Given the description of an element on the screen output the (x, y) to click on. 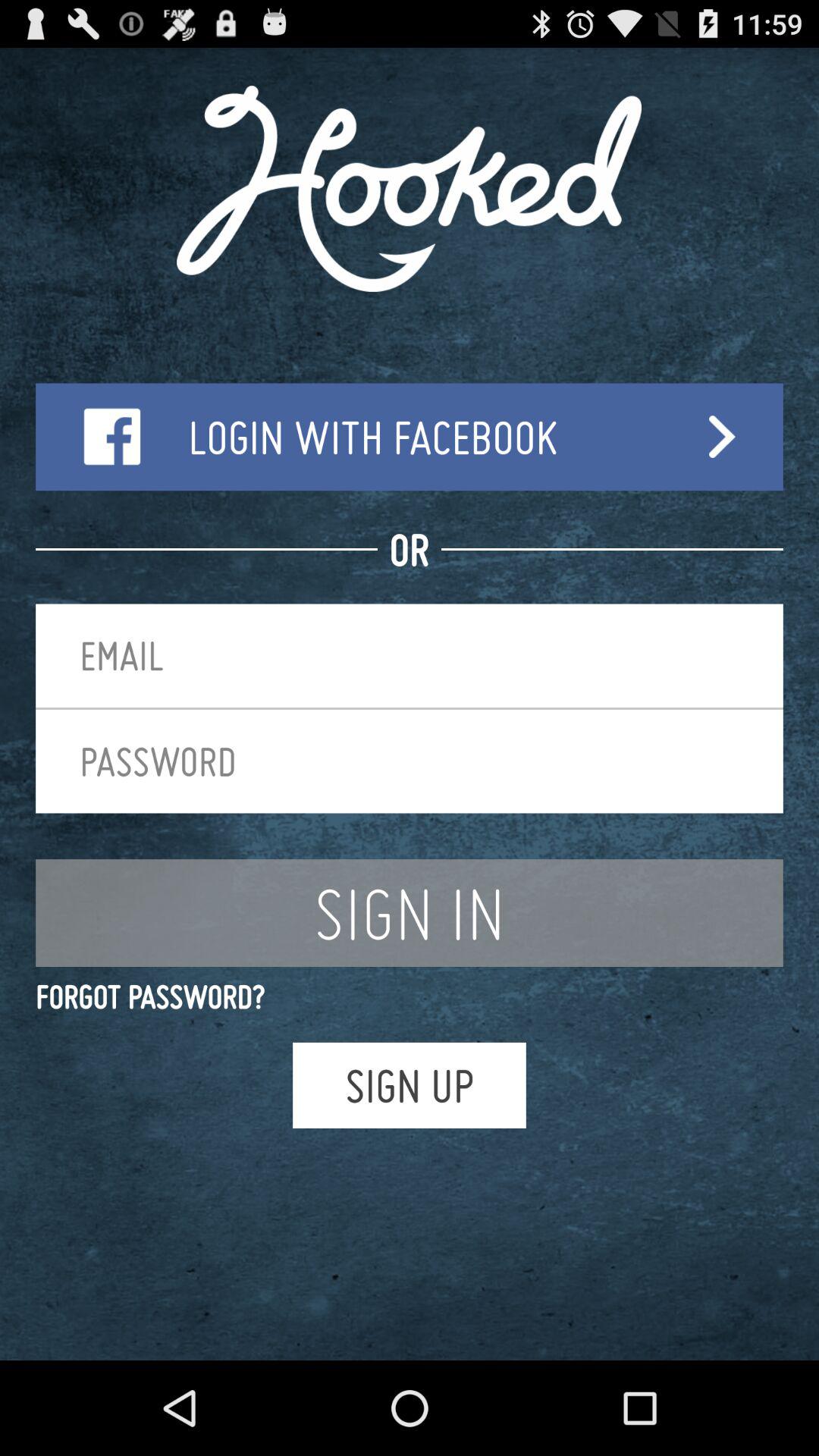
press the item above the forgot password? (409, 912)
